Given the description of an element on the screen output the (x, y) to click on. 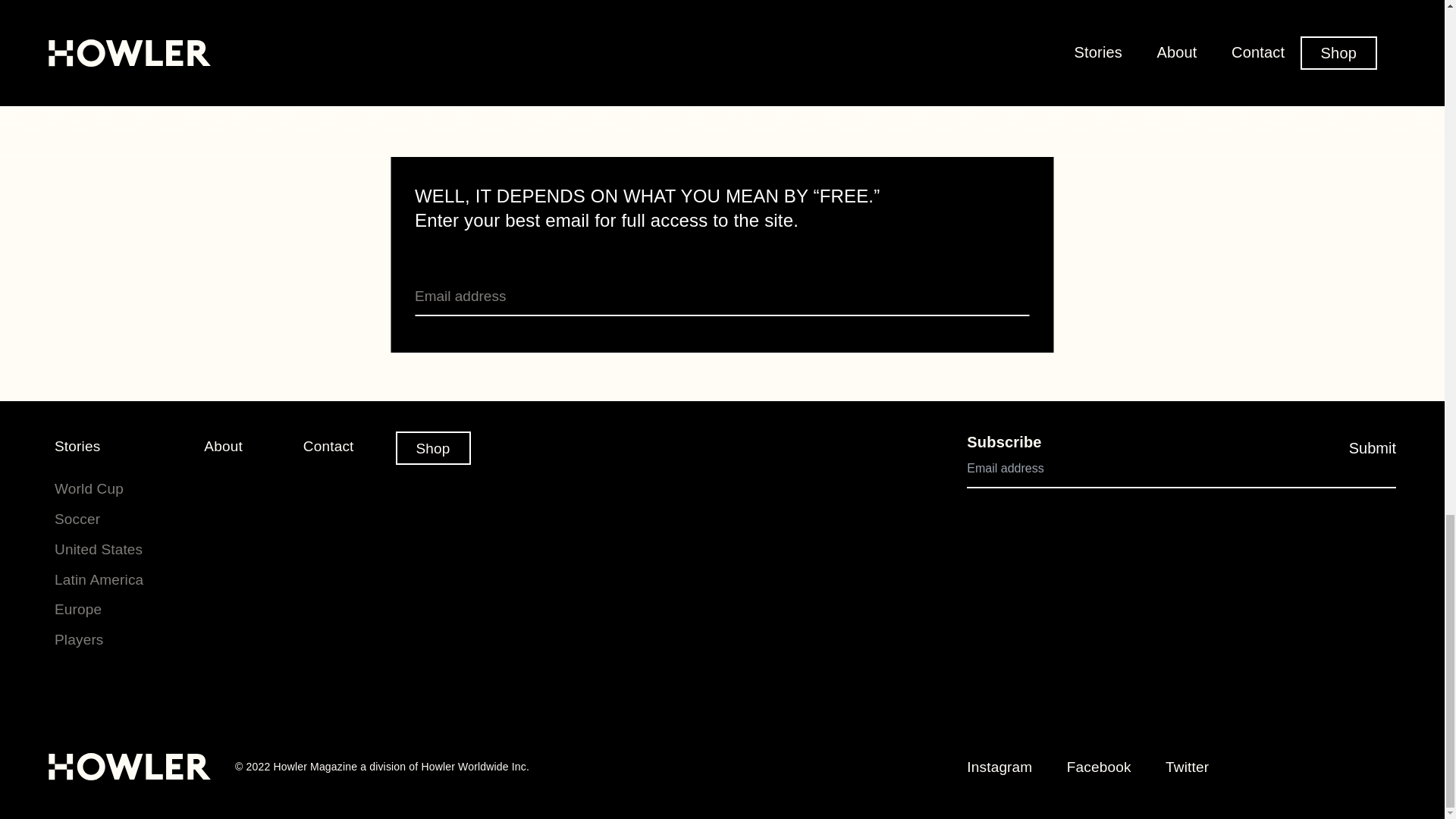
United States (98, 549)
Submit (1372, 448)
World Cup (89, 488)
Stories (77, 446)
Players (79, 639)
Europe (78, 609)
About (223, 446)
Shop (432, 448)
Submit (1372, 448)
Soccer (77, 519)
Latin America (98, 579)
Contact (327, 446)
